Given the description of an element on the screen output the (x, y) to click on. 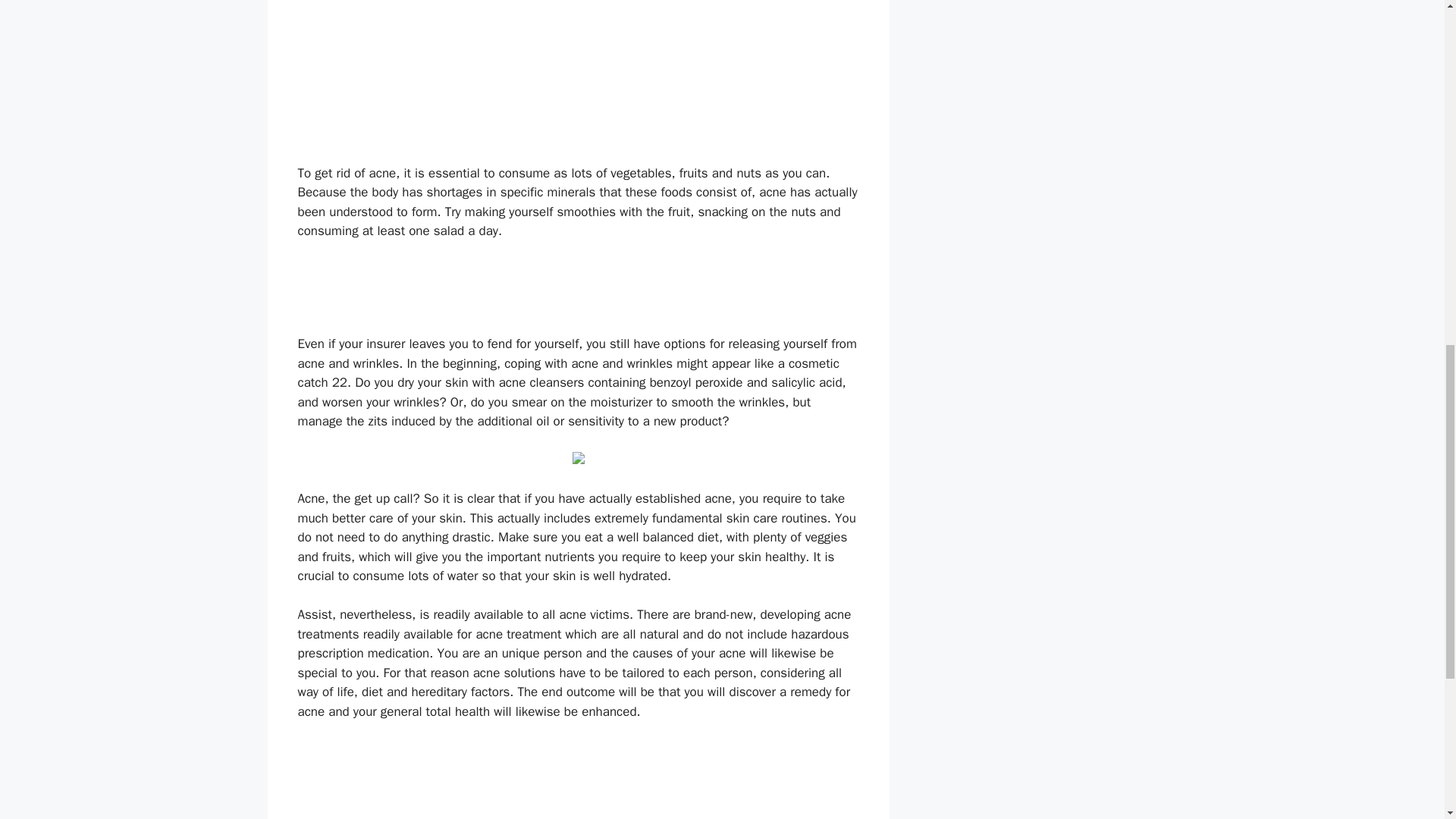
Advertisement (576, 780)
Advertisement (577, 294)
